Given the description of an element on the screen output the (x, y) to click on. 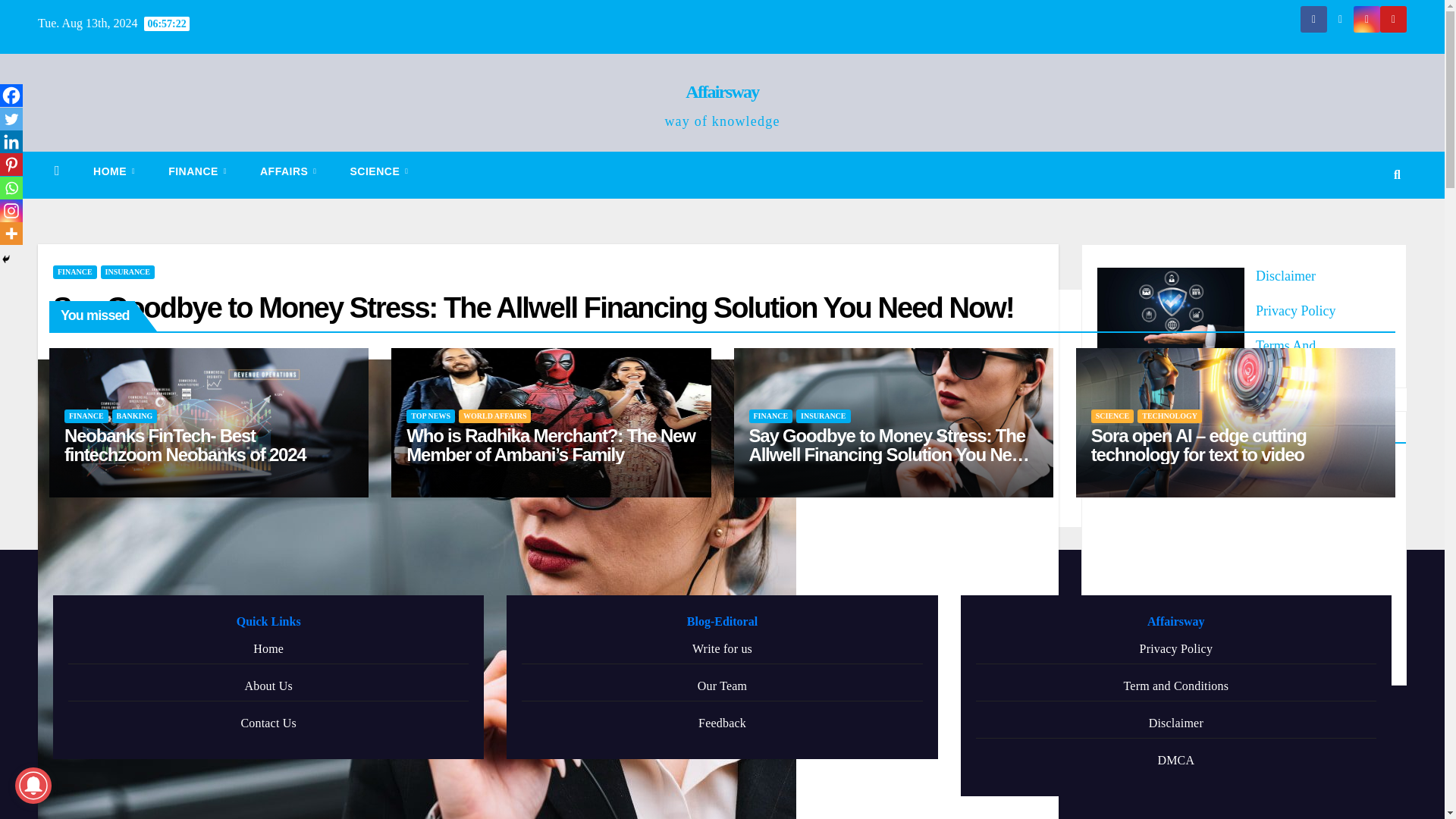
INSURANCE (127, 272)
Finance (197, 170)
AFFAIRS (288, 170)
Affairs (288, 170)
SCIENCE (379, 170)
FINANCE (197, 170)
Affairsway (721, 91)
FINANCE (74, 272)
HOME (114, 170)
